Given the description of an element on the screen output the (x, y) to click on. 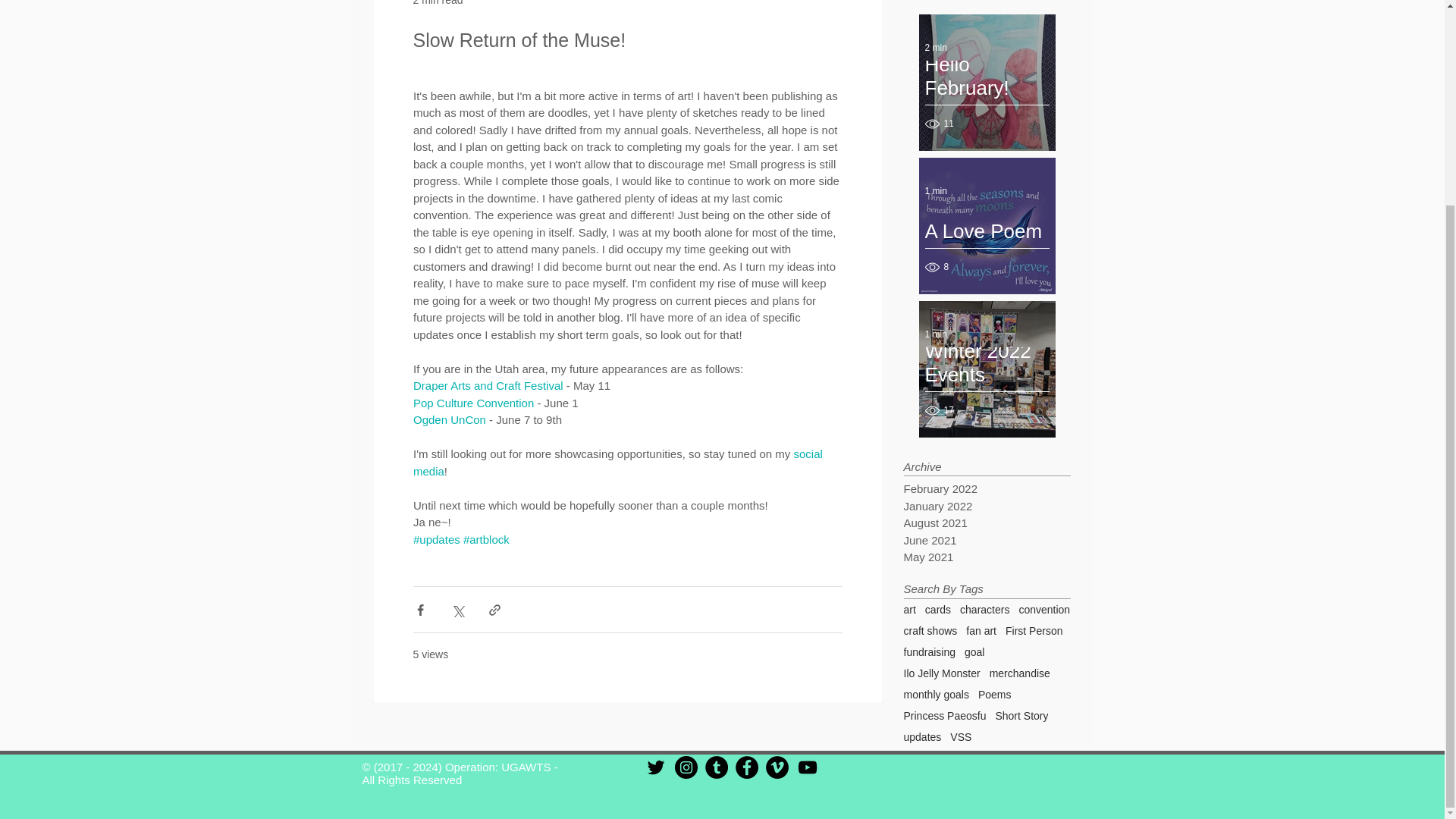
Ilo Jelly Monster (941, 673)
Short Story (1021, 715)
August 2021 (983, 523)
Pop Culture Convention (472, 401)
Winter 2022 Events (986, 370)
Draper Arts and Craft Festival  (489, 385)
Poems (994, 694)
social media (618, 462)
February 2022 (983, 488)
art (909, 609)
2 min (935, 47)
craft shows (931, 630)
First Person (1034, 630)
Hello February! (986, 84)
fan art (980, 630)
